Given the description of an element on the screen output the (x, y) to click on. 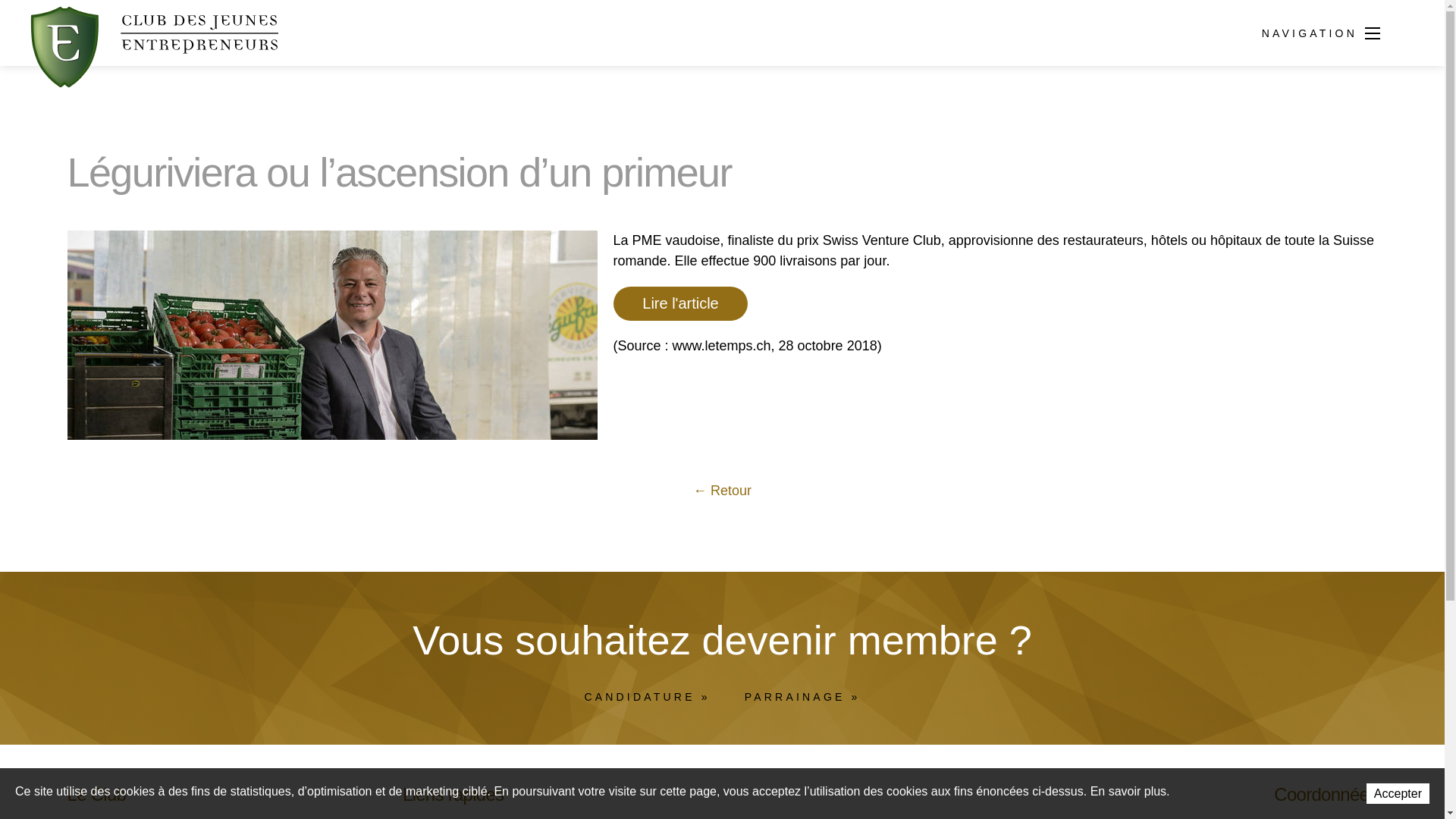
Accepter Element type: text (1397, 793)
Lire l'article Element type: text (679, 303)
NAVIGATION Element type: text (1372, 34)
